Given the description of an element on the screen output the (x, y) to click on. 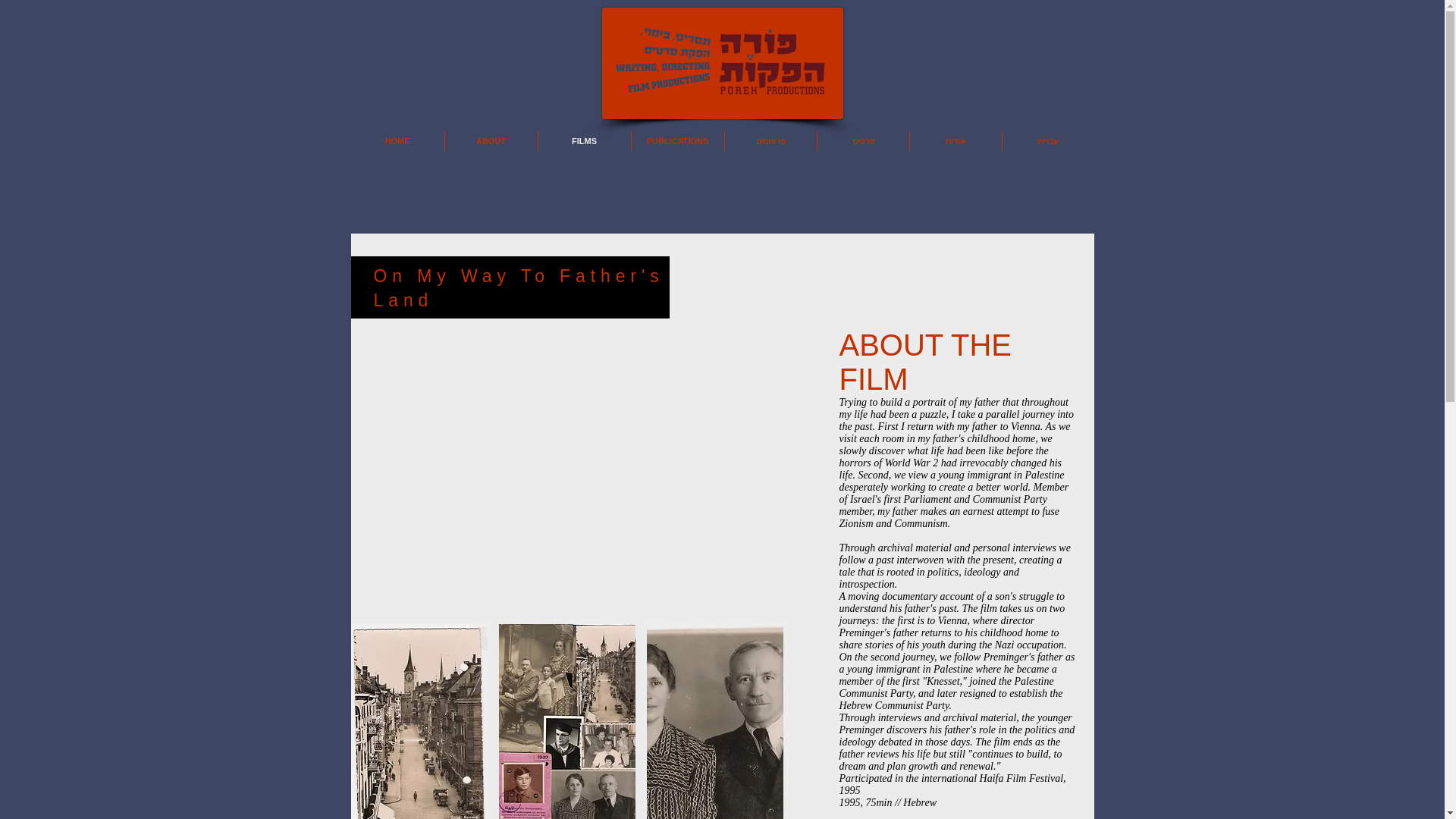
HOME (397, 140)
ABOUT (490, 140)
FILMS (584, 140)
PUBLICATIONS (676, 140)
External Vimeo (492, 480)
